Given the description of an element on the screen output the (x, y) to click on. 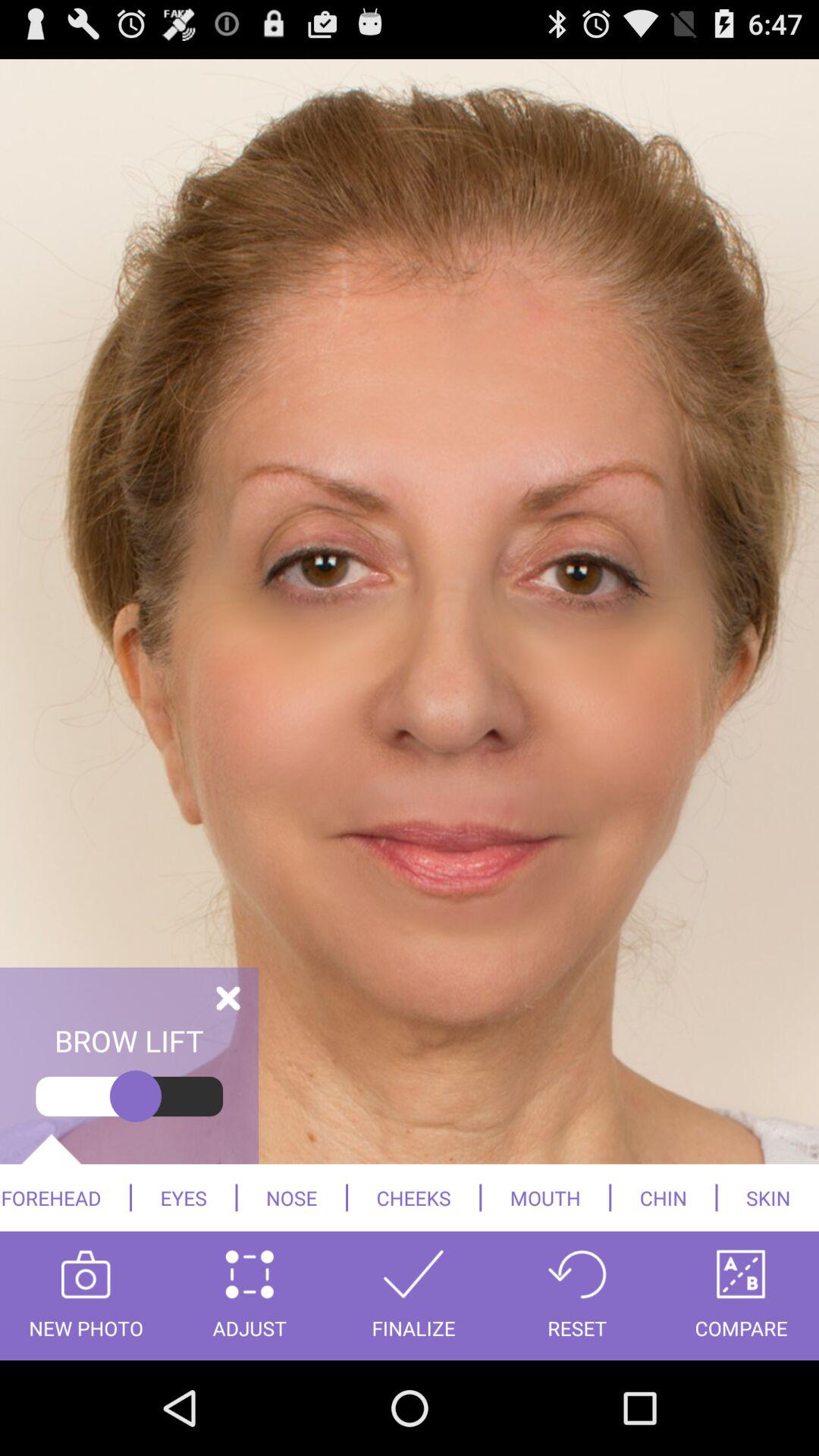
flip until eyes item (183, 1197)
